Given the description of an element on the screen output the (x, y) to click on. 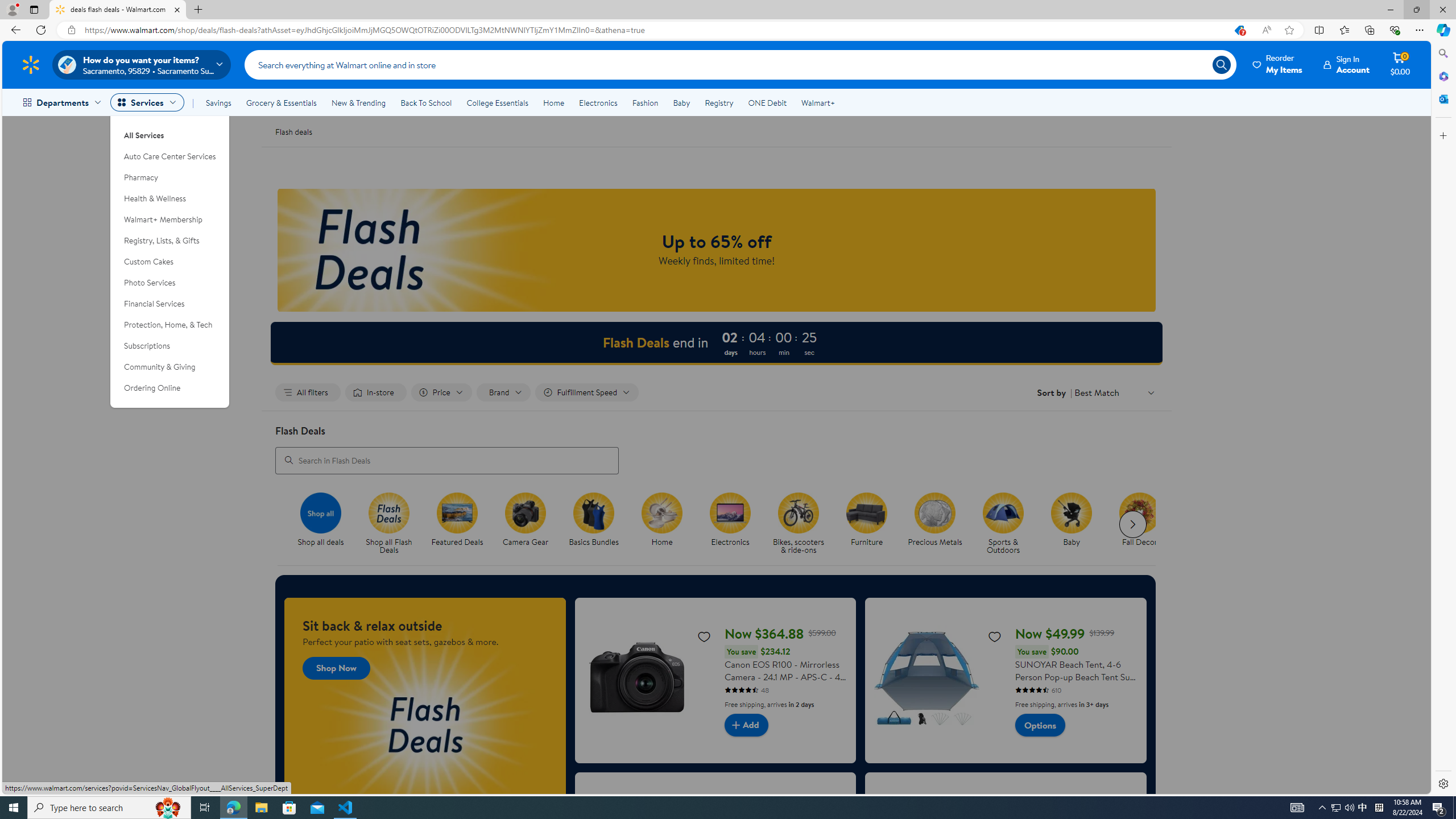
Cart contains 0 items Total Amount $0.00 (1399, 64)
Walmart+ Membership (170, 219)
Baby (1071, 512)
Registry (718, 102)
Search in Flash Deals (446, 460)
Financial Services (170, 303)
Auto Care Center Services (170, 156)
Baby Baby (1071, 519)
Featured Deals (456, 512)
Electronics (598, 102)
New & Trending (358, 102)
Filter by Fulfillment Speed not applied, activate to change (587, 392)
Camera Gear (530, 524)
